Given the description of an element on the screen output the (x, y) to click on. 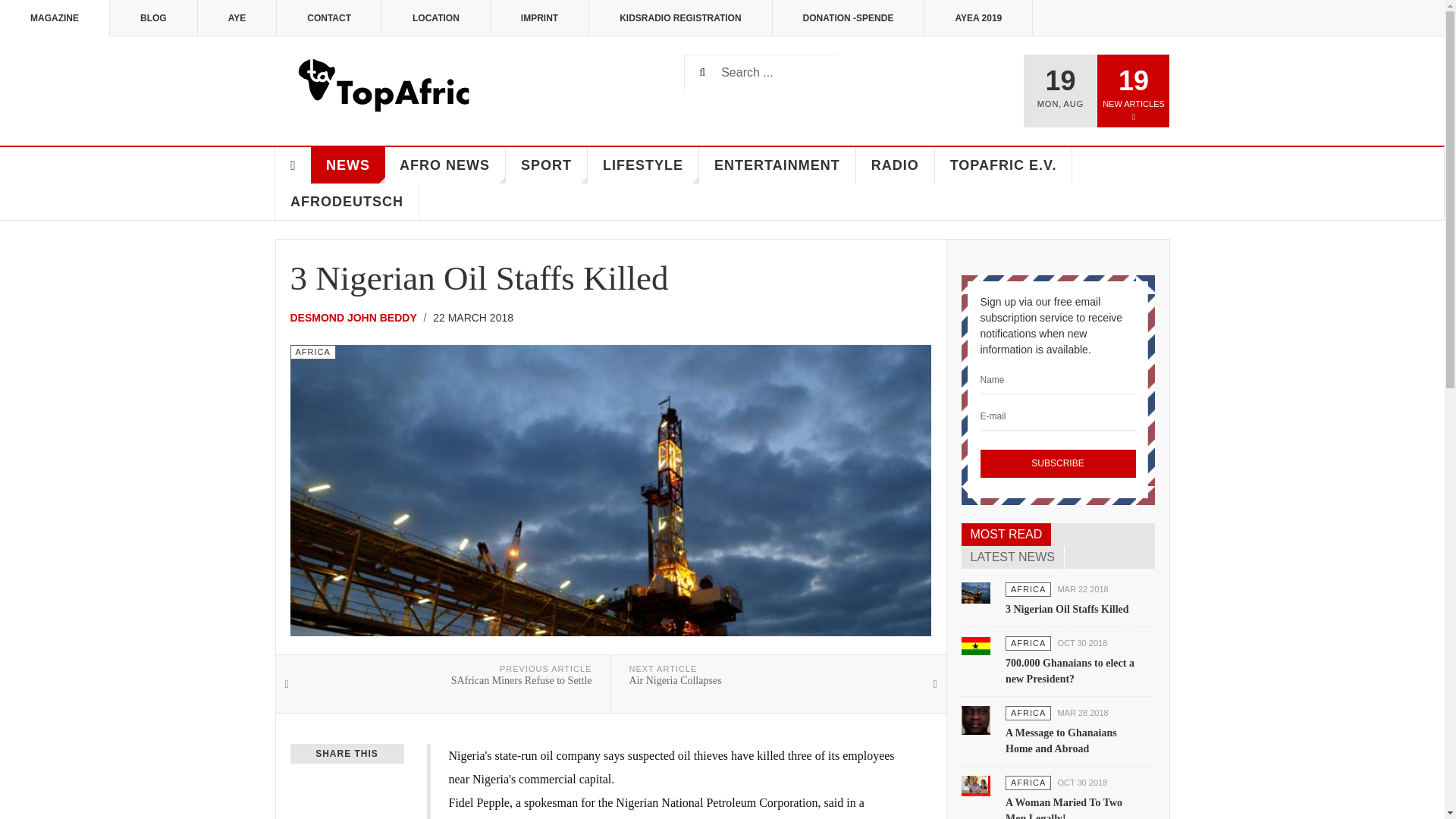
Name (1057, 379)
Search ... (759, 72)
IMPRINT (539, 18)
Subscribe (1057, 463)
HOME (293, 165)
AYEA 2019 (978, 18)
MAGAZINE (55, 18)
DONATION -SPENDE (848, 18)
BLOG (154, 18)
LOCATION (435, 18)
